Given the description of an element on the screen output the (x, y) to click on. 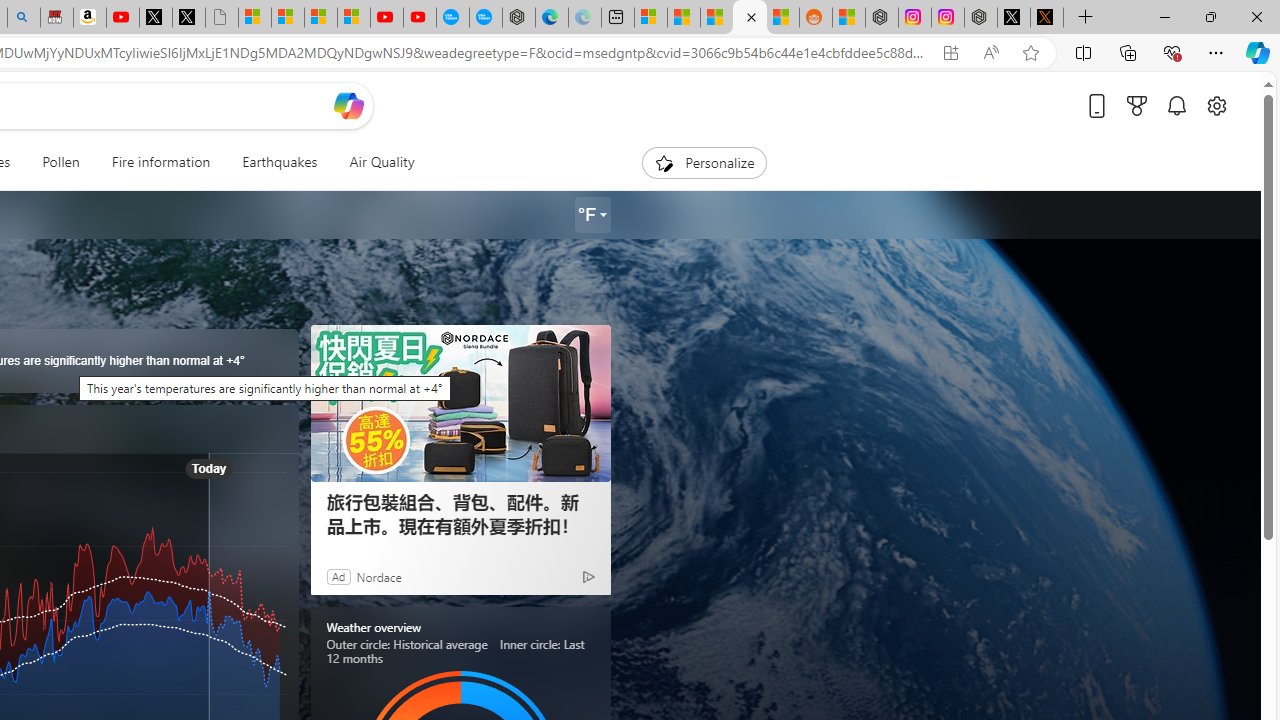
Pollen (60, 162)
Browser essentials (1171, 52)
New tab (617, 17)
Pollen (60, 162)
X (188, 17)
Open Copilot (347, 105)
Shanghai, China hourly forecast | Microsoft Weather (717, 17)
Earthquakes (280, 162)
Shanghai, China weather forecast | Microsoft Weather (684, 17)
App available. Install Microsoft Start Weather (950, 53)
Gloom - YouTube (387, 17)
Minimize (1164, 16)
